Given the description of an element on the screen output the (x, y) to click on. 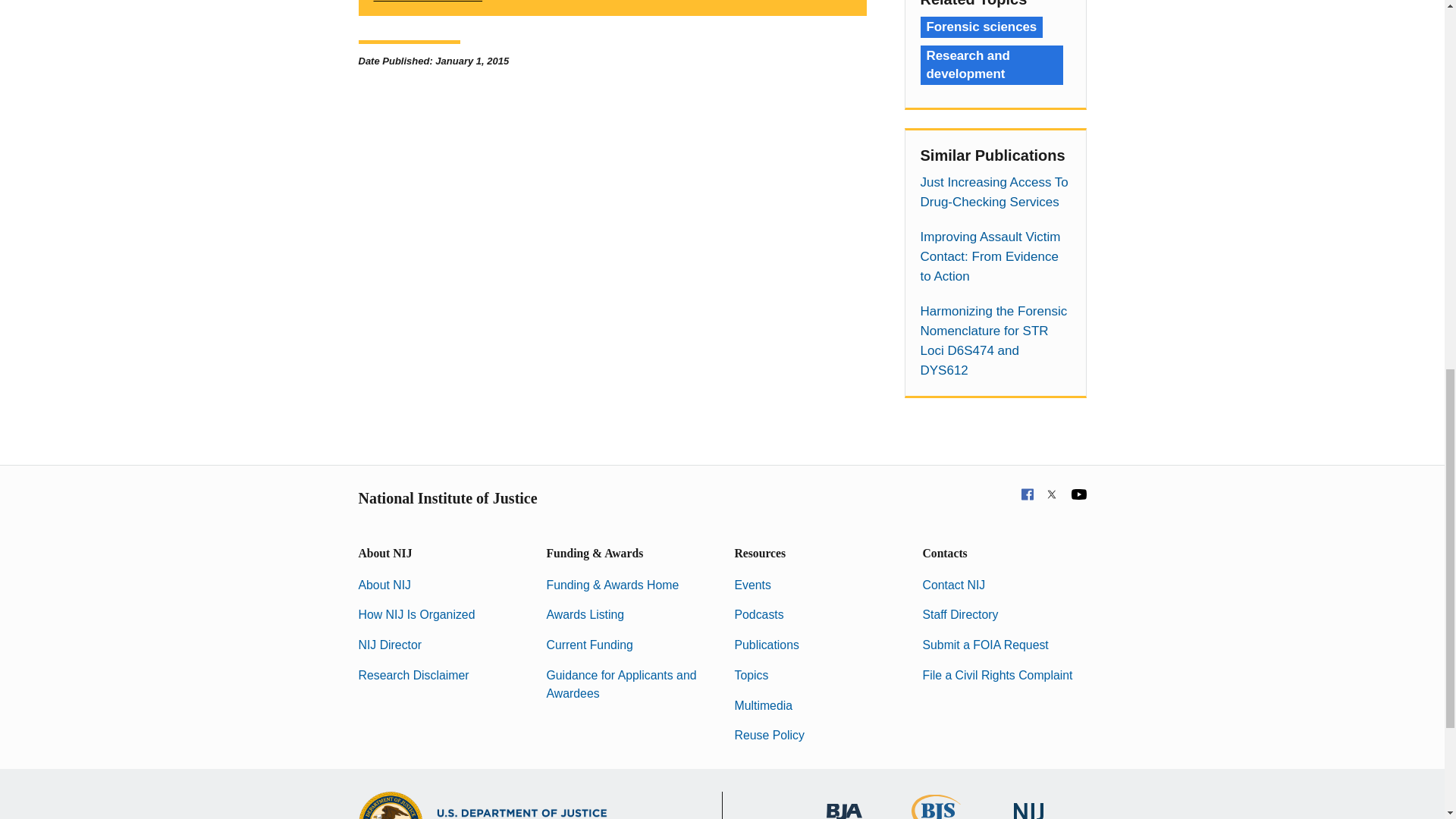
Additional Details (612, 7)
Just Increasing Access To Drug-Checking Services (995, 192)
Improving Assault Victim Contact: From Evidence to Action (995, 256)
